Given the description of an element on the screen output the (x, y) to click on. 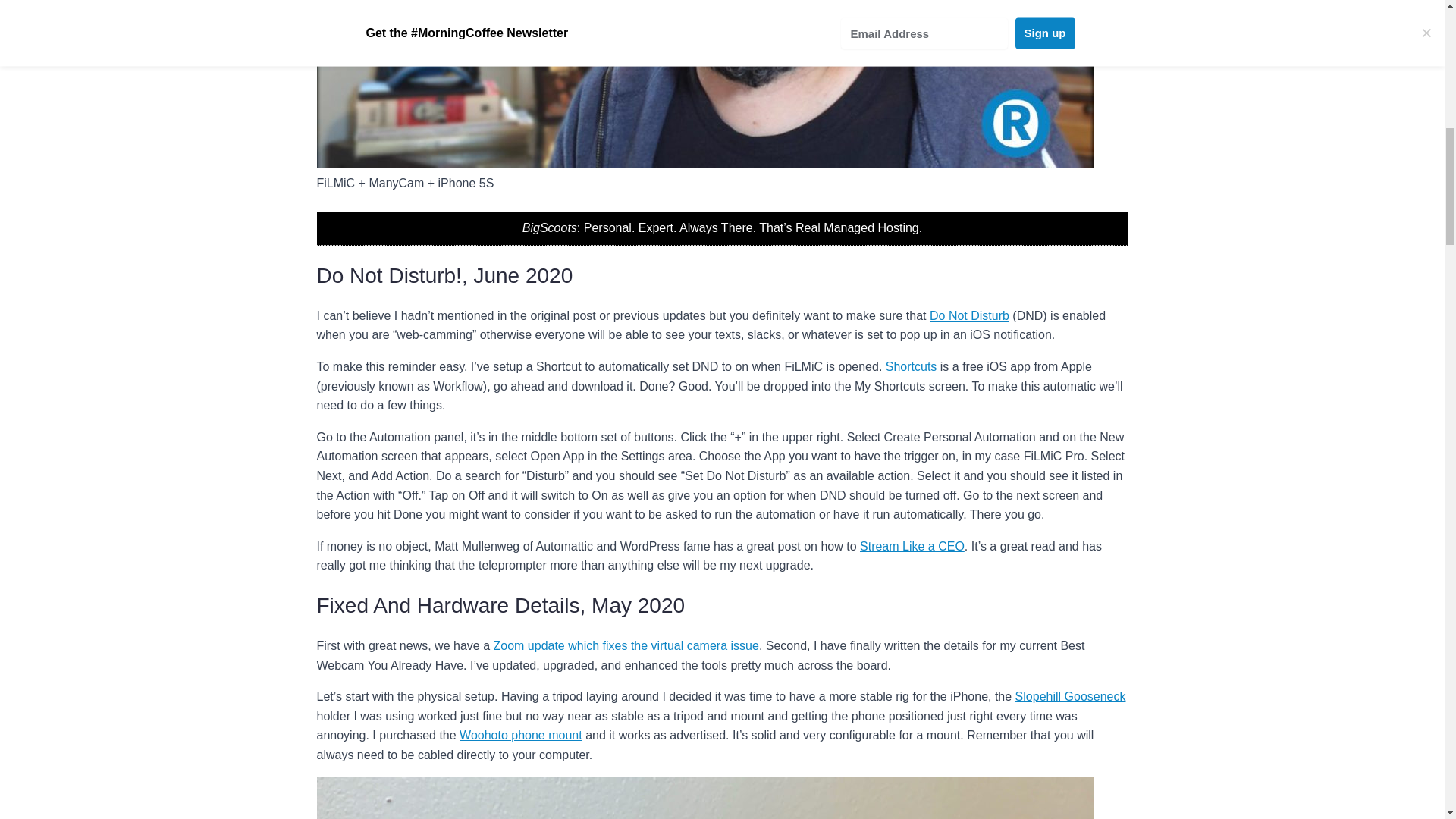
Woohoto phone mount (521, 735)
Do Not Disturb (969, 315)
Stream Like a CEO (911, 545)
Zoom update which fixes the virtual camera issue (625, 645)
Slopehill Gooseneck (1069, 696)
Shortcuts (911, 366)
